Given the description of an element on the screen output the (x, y) to click on. 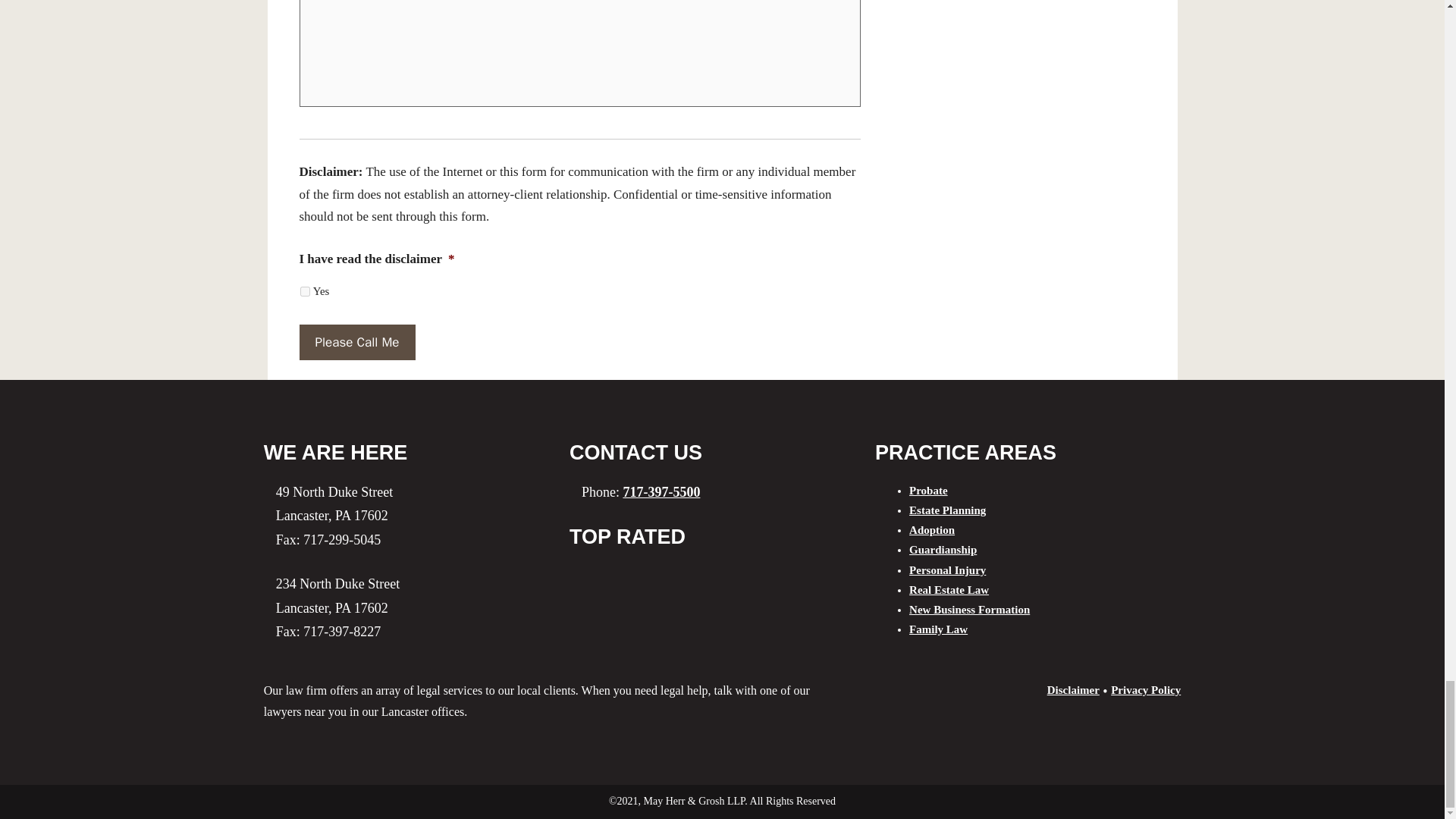
Please Call Me (356, 342)
Yes (304, 291)
Please Call Me (356, 342)
